Given the description of an element on the screen output the (x, y) to click on. 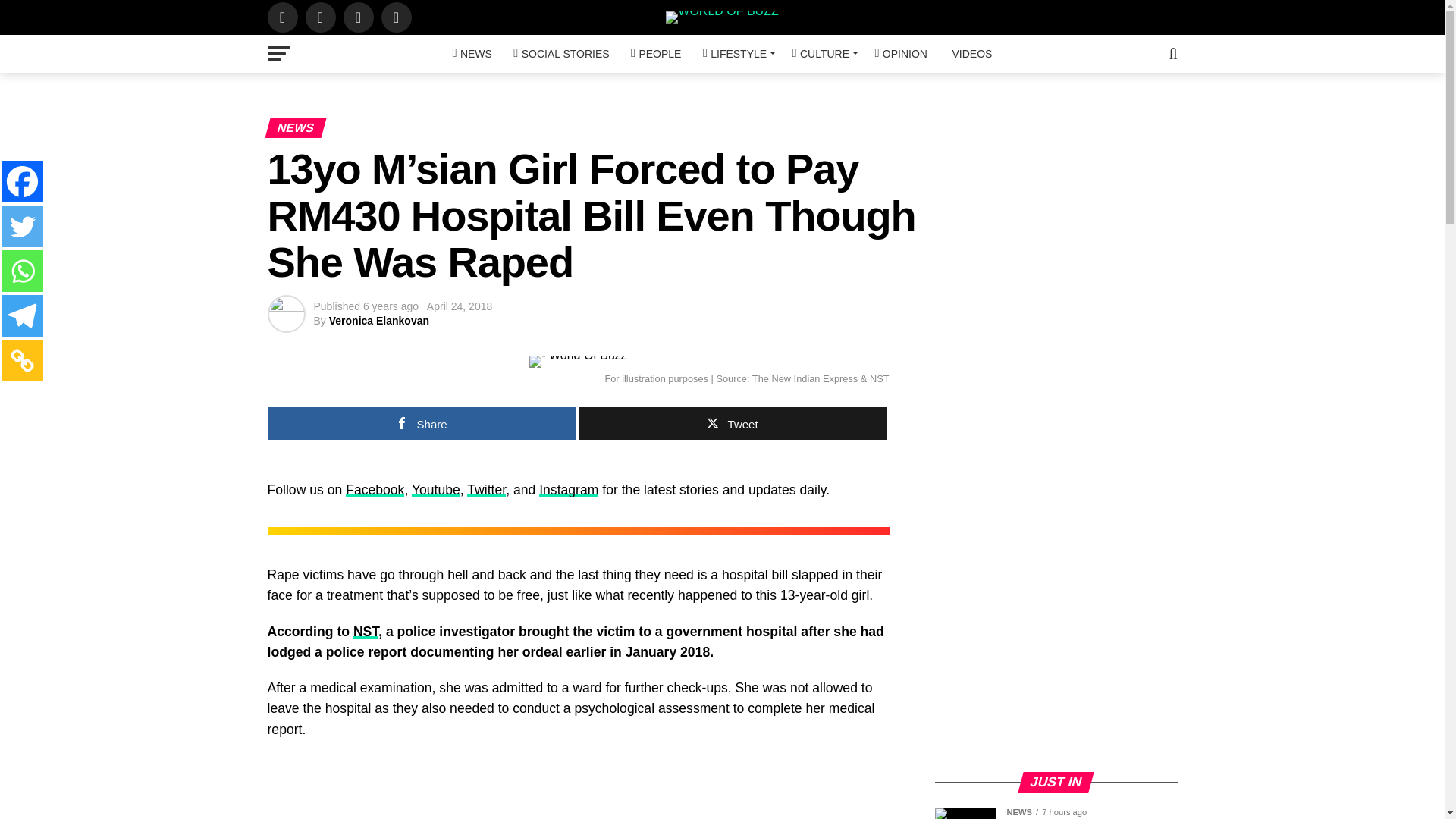
SOCIAL STORIES (560, 53)
Facebook (22, 181)
Copy Link (22, 360)
Twitter (22, 226)
Telegram (22, 315)
NEWS (472, 53)
Advertisement (1055, 652)
Whatsapp (22, 270)
